Given the description of an element on the screen output the (x, y) to click on. 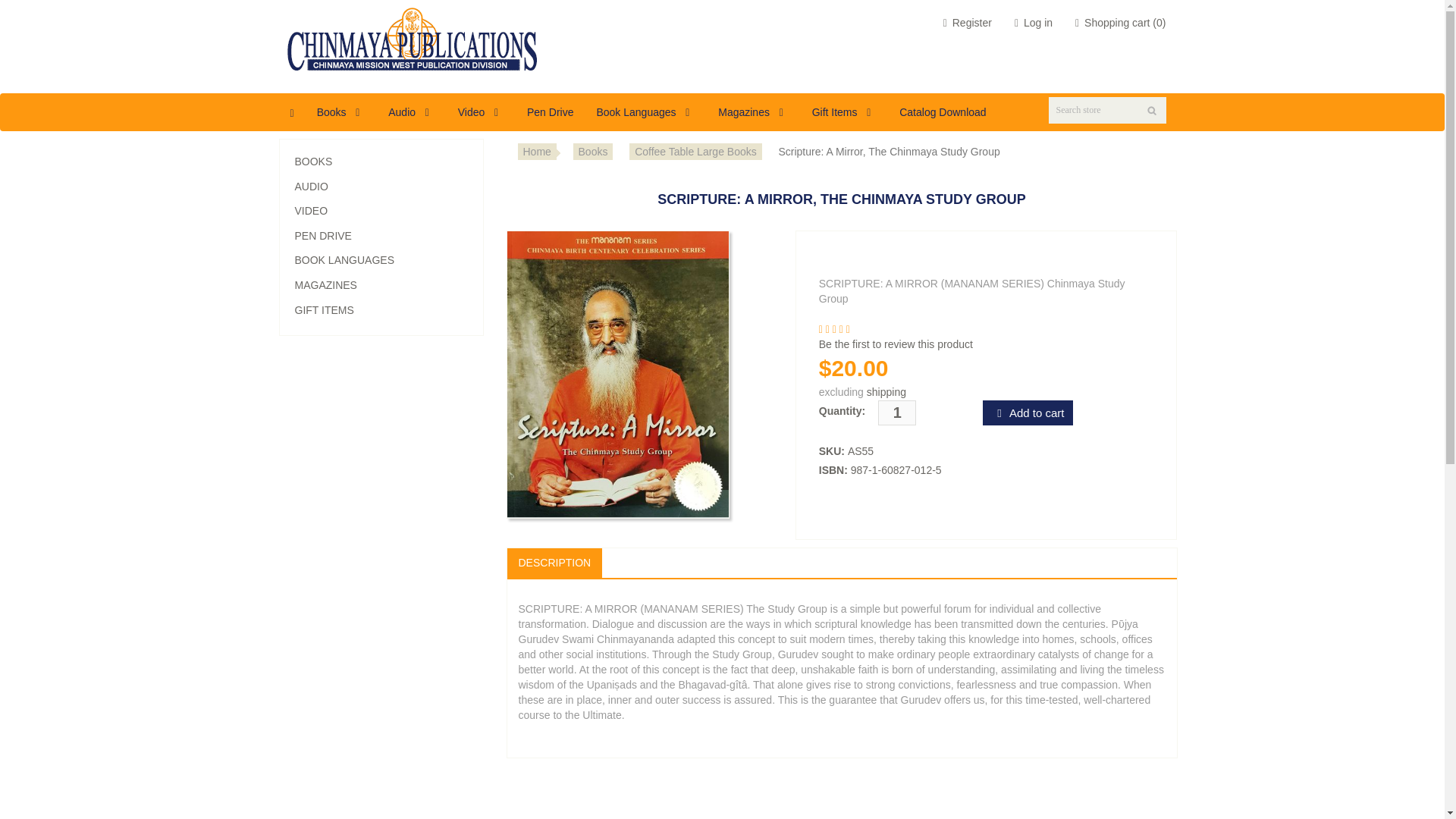
Register (967, 22)
Log in (1033, 22)
Pen Drive (550, 112)
Search store (1107, 110)
Video     (480, 112)
Audio     (411, 112)
Books     (341, 112)
1 (896, 412)
